Given the description of an element on the screen output the (x, y) to click on. 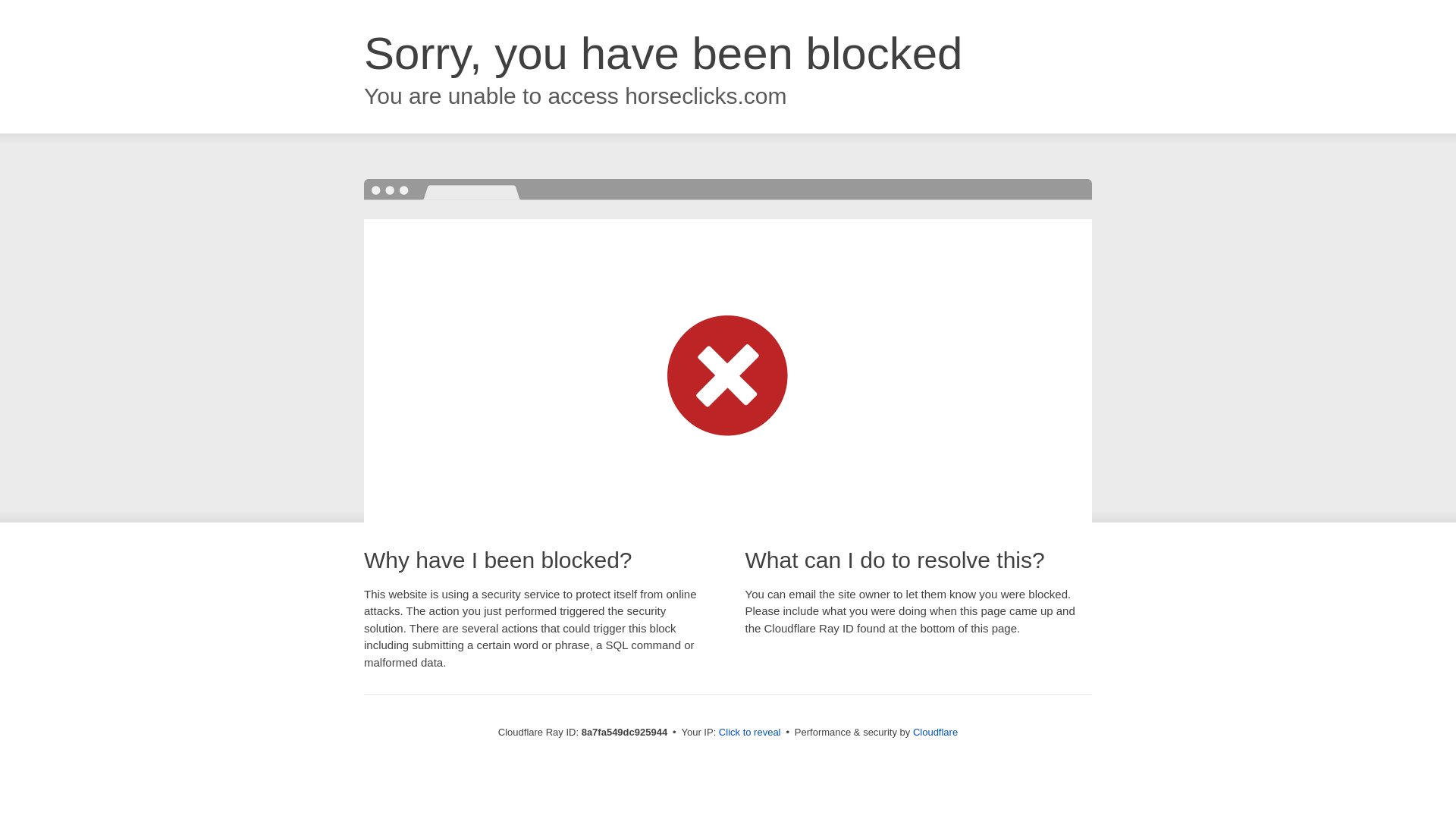
Cloudflare (935, 731)
Click to reveal (749, 732)
